Given the description of an element on the screen output the (x, y) to click on. 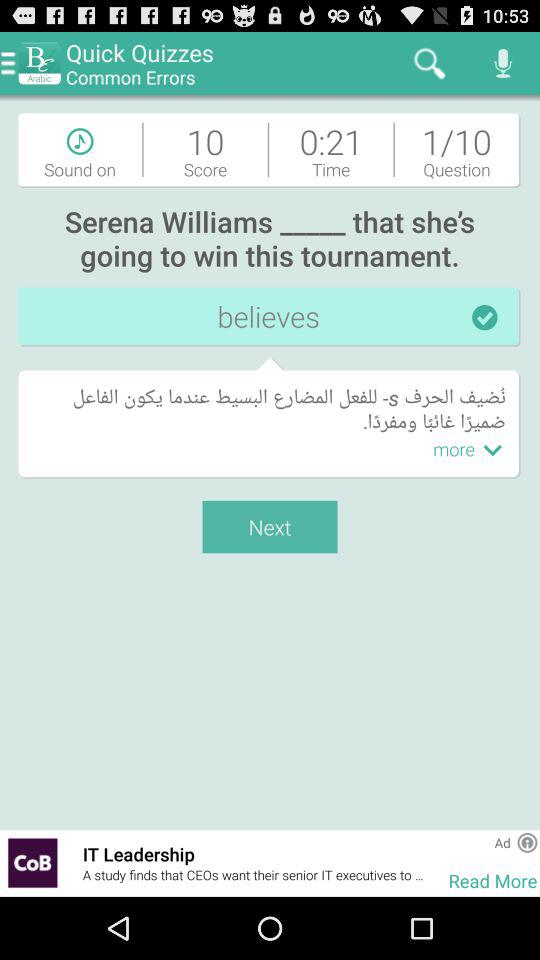
click the next button (270, 526)
click on speaker icon (503, 63)
click the believes button (269, 317)
select sound on (79, 149)
